Given the description of an element on the screen output the (x, y) to click on. 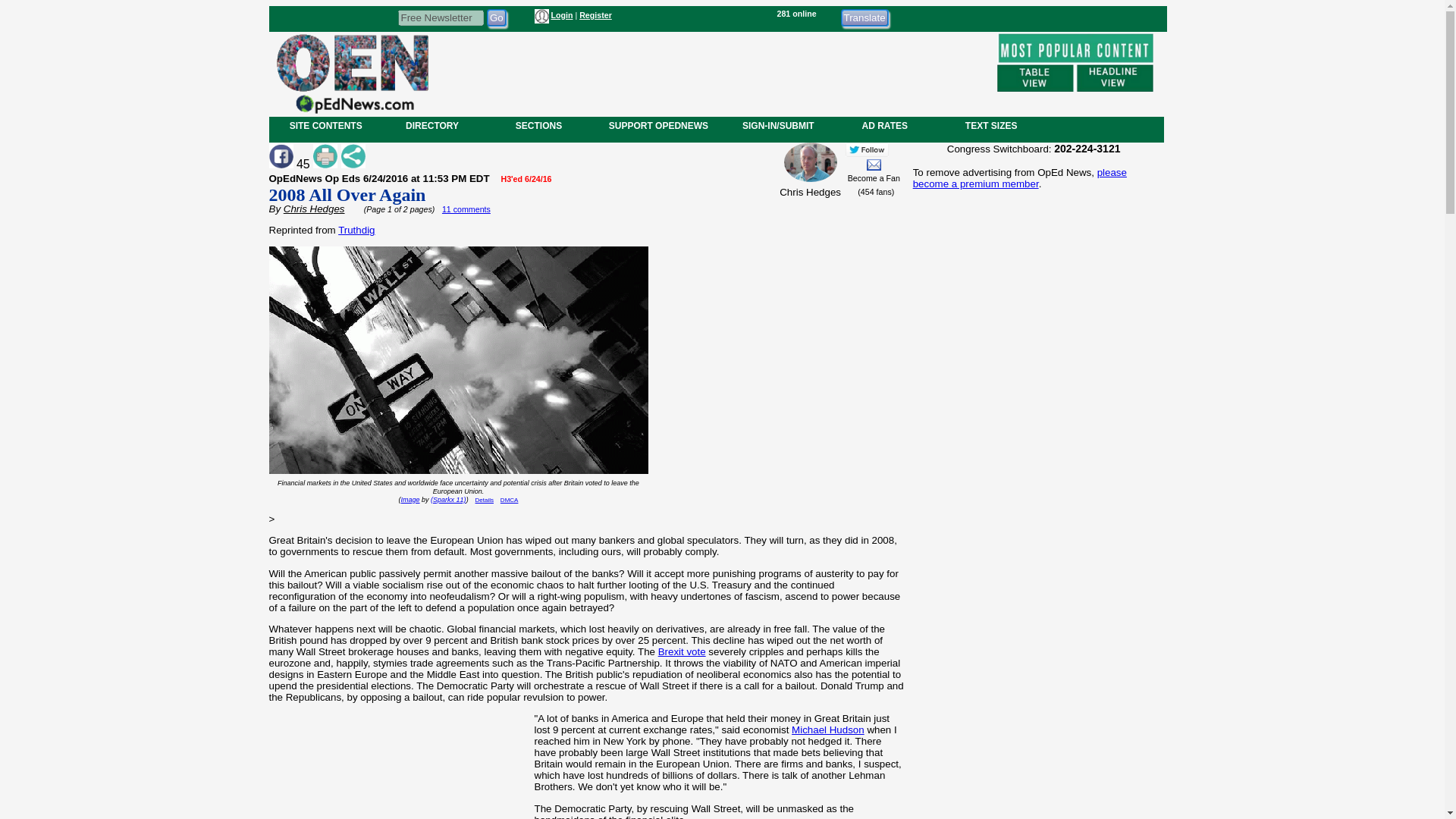
Go (496, 17)
Brexit vote (682, 651)
DIRECTORY (431, 125)
Free Newsletter (440, 17)
11 comments (466, 208)
Translate (864, 17)
2008 All Over Again (346, 194)
Truthdig (355, 229)
Login (561, 14)
SITE CONTENTS (325, 125)
Go (496, 17)
AD RATES (884, 125)
Brexit vote (682, 651)
Translate (864, 17)
Share on Facebook (279, 156)
